Given the description of an element on the screen output the (x, y) to click on. 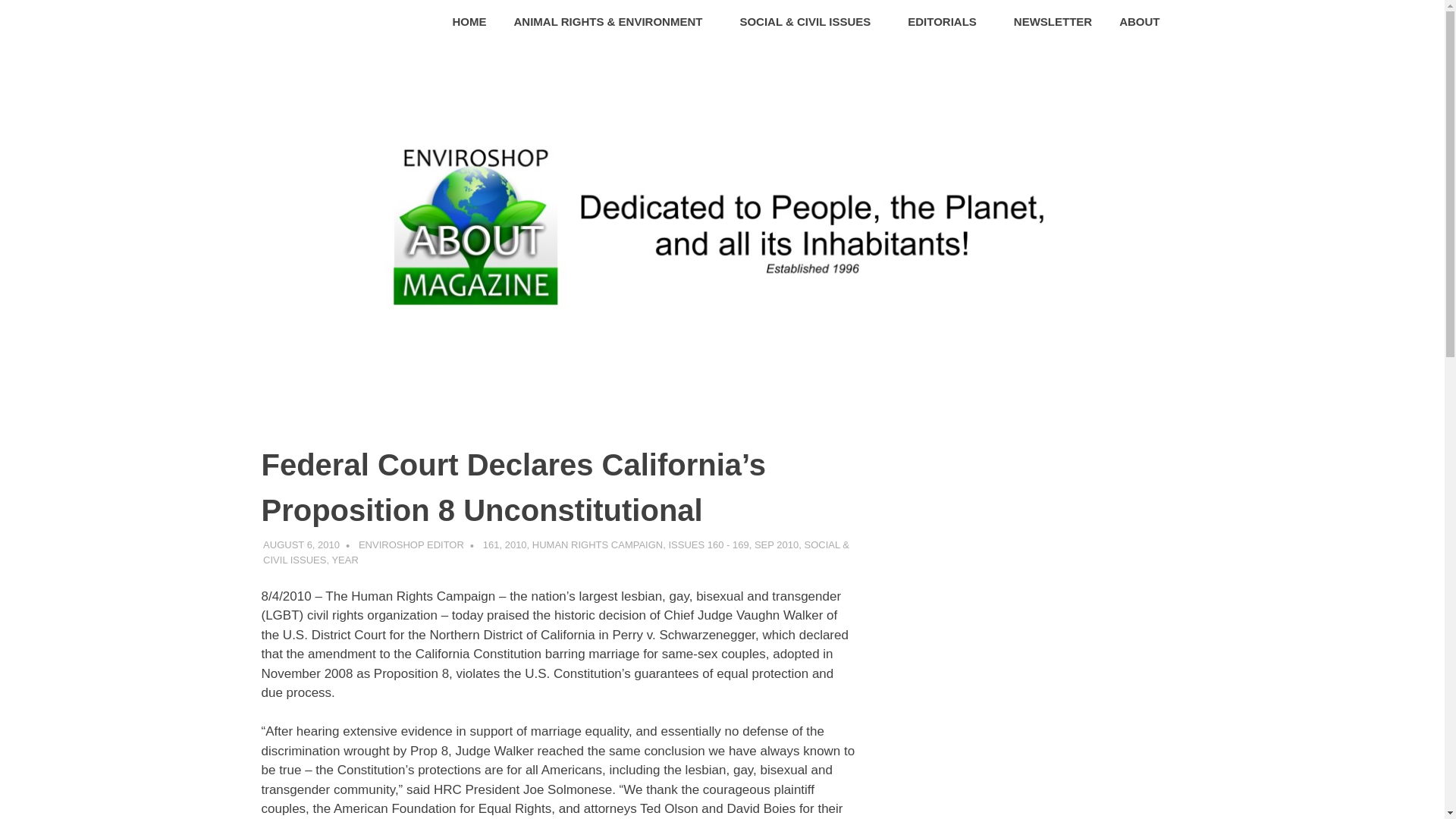
EDITORIALS (946, 22)
HOME (469, 22)
ENVIROSHOP EDITOR (411, 544)
161 (491, 544)
AUGUST 6, 2010 (301, 544)
2:07 am (301, 544)
ISSUES 160 - 169 (708, 544)
2010 (516, 544)
NEWSLETTER (1052, 22)
ABOUT (1143, 22)
